Given the description of an element on the screen output the (x, y) to click on. 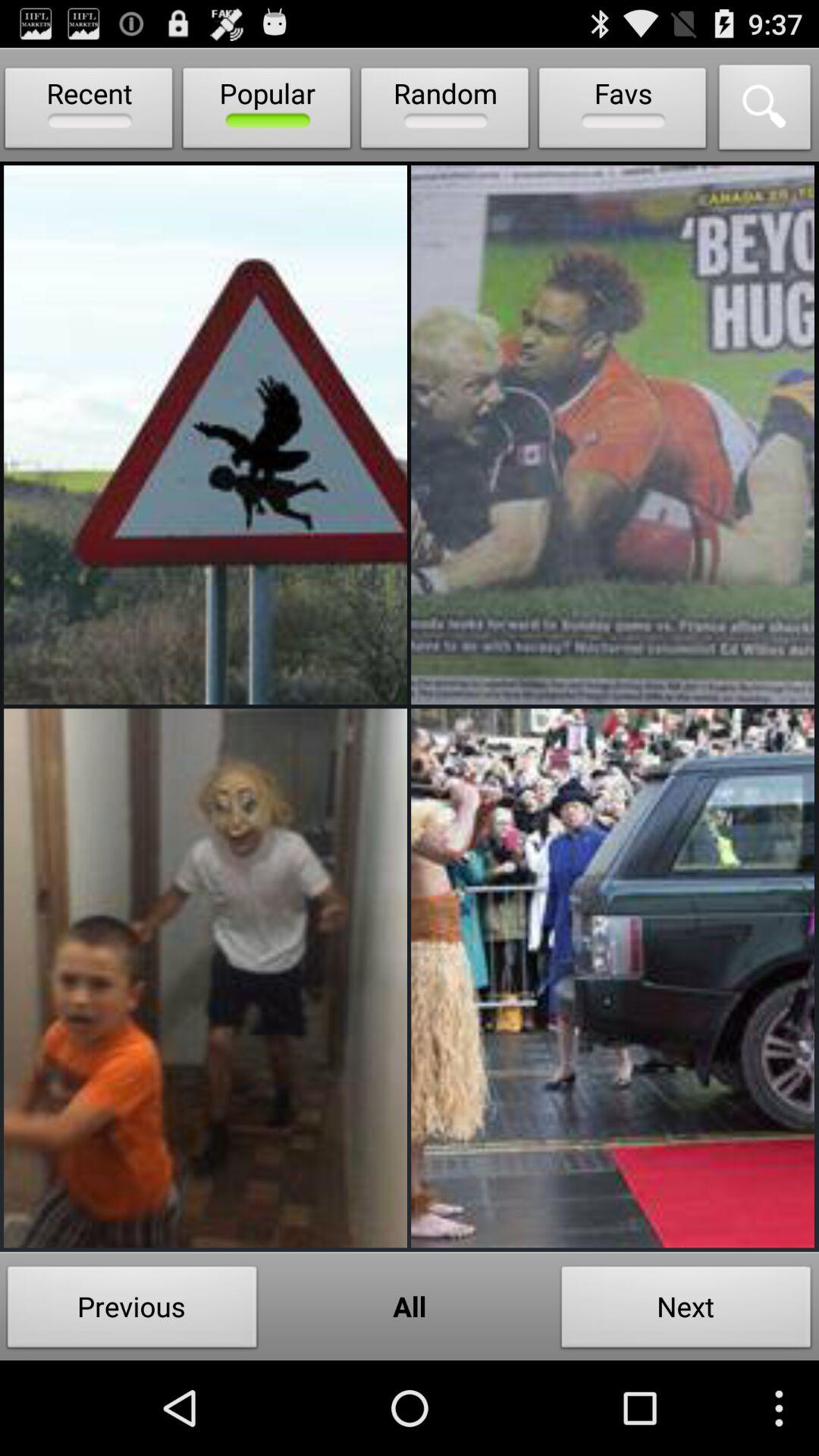
turn on item to the right of the favs icon (765, 111)
